Given the description of an element on the screen output the (x, y) to click on. 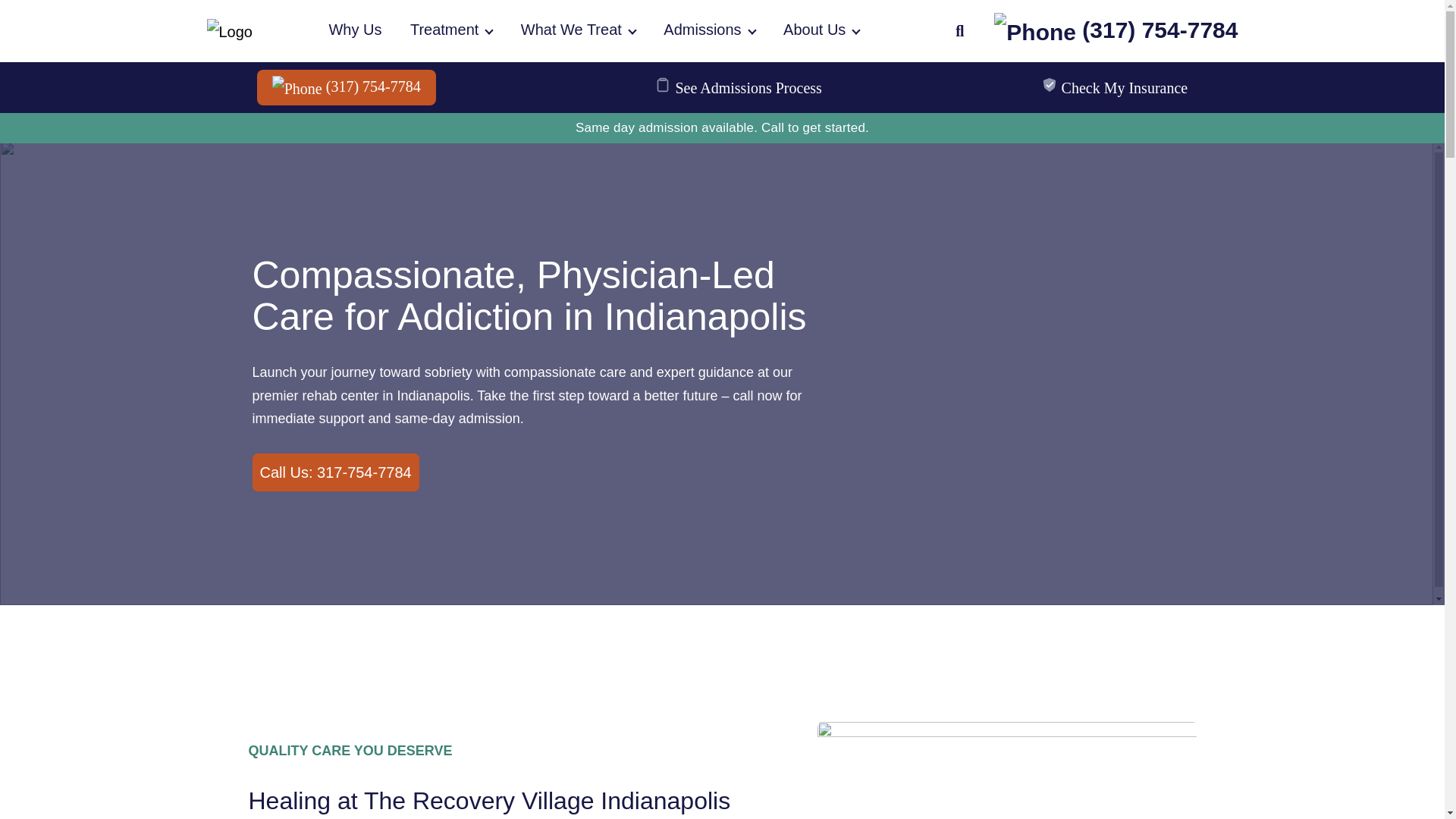
Why Us (355, 30)
Treatment (451, 30)
About Us (821, 30)
Admissions (708, 30)
What We Treat (577, 30)
